Given the description of an element on the screen output the (x, y) to click on. 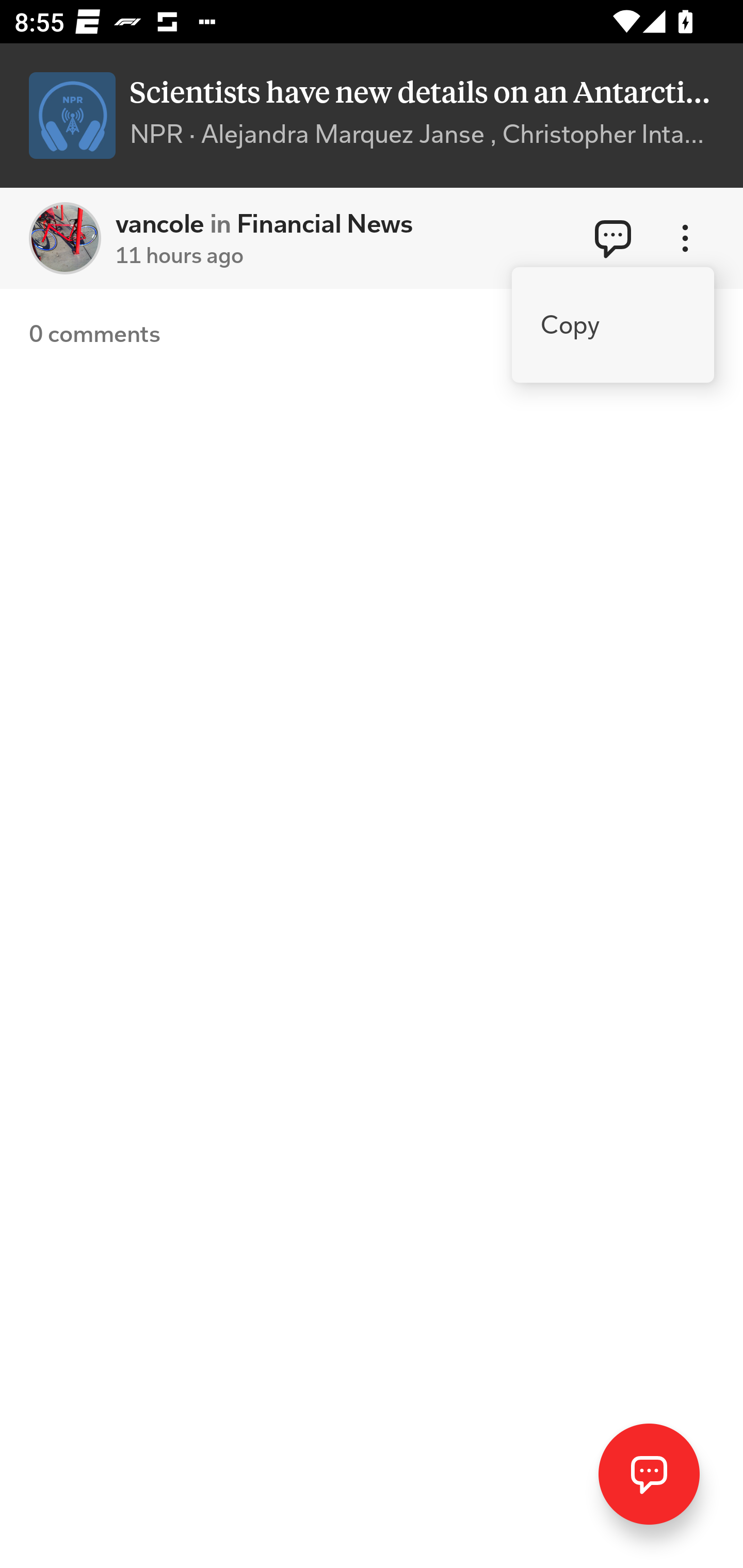
Copy (612, 325)
